Given the description of an element on the screen output the (x, y) to click on. 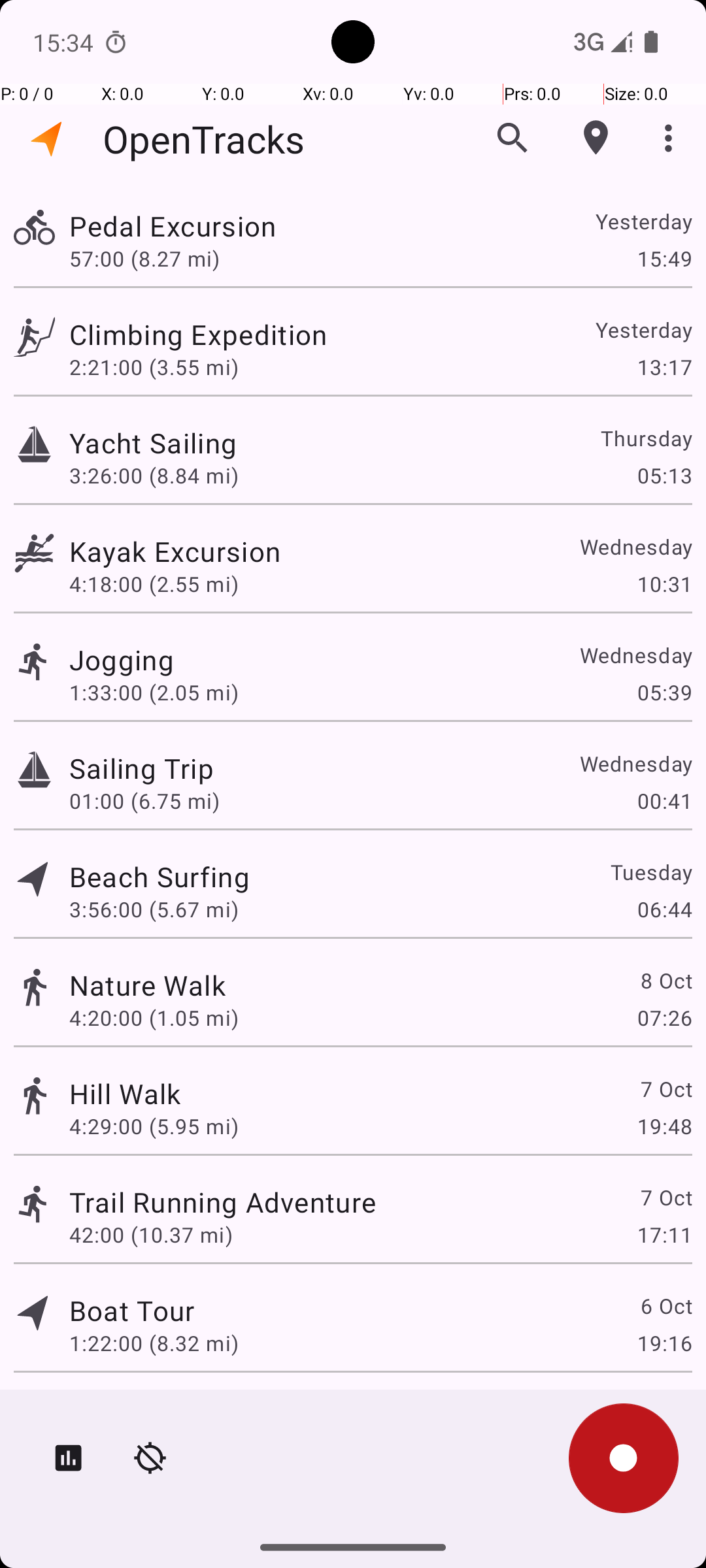
Pedal Excursion Element type: android.widget.TextView (172, 225)
57:00 (8.27 mi) Element type: android.widget.TextView (144, 258)
15:49 Element type: android.widget.TextView (664, 258)
Climbing Expedition Element type: android.widget.TextView (197, 333)
2:21:00 (3.55 mi) Element type: android.widget.TextView (153, 366)
13:17 Element type: android.widget.TextView (664, 366)
Yacht Sailing Element type: android.widget.TextView (152, 442)
3:26:00 (8.84 mi) Element type: android.widget.TextView (153, 475)
05:13 Element type: android.widget.TextView (664, 475)
Kayak Excursion Element type: android.widget.TextView (174, 550)
4:18:00 (2.55 mi) Element type: android.widget.TextView (153, 583)
10:31 Element type: android.widget.TextView (664, 583)
Jogging Element type: android.widget.TextView (121, 659)
1:33:00 (2.05 mi) Element type: android.widget.TextView (153, 692)
05:39 Element type: android.widget.TextView (664, 692)
Sailing Trip Element type: android.widget.TextView (141, 767)
01:00 (6.75 mi) Element type: android.widget.TextView (144, 800)
00:41 Element type: android.widget.TextView (664, 800)
Beach Surfing Element type: android.widget.TextView (159, 876)
3:56:00 (5.67 mi) Element type: android.widget.TextView (153, 909)
06:44 Element type: android.widget.TextView (664, 909)
Nature Walk Element type: android.widget.TextView (147, 984)
4:20:00 (1.05 mi) Element type: android.widget.TextView (153, 1017)
07:26 Element type: android.widget.TextView (664, 1017)
Hill Walk Element type: android.widget.TextView (124, 1092)
4:29:00 (5.95 mi) Element type: android.widget.TextView (153, 1125)
19:48 Element type: android.widget.TextView (664, 1125)
Trail Running Adventure Element type: android.widget.TextView (222, 1201)
42:00 (10.37 mi) Element type: android.widget.TextView (150, 1234)
17:11 Element type: android.widget.TextView (664, 1234)
1:22:00 (8.32 mi) Element type: android.widget.TextView (153, 1342)
19:16 Element type: android.widget.TextView (664, 1342)
Mountain Snowboarding Element type: android.widget.TextView (226, 1408)
